Given the description of an element on the screen output the (x, y) to click on. 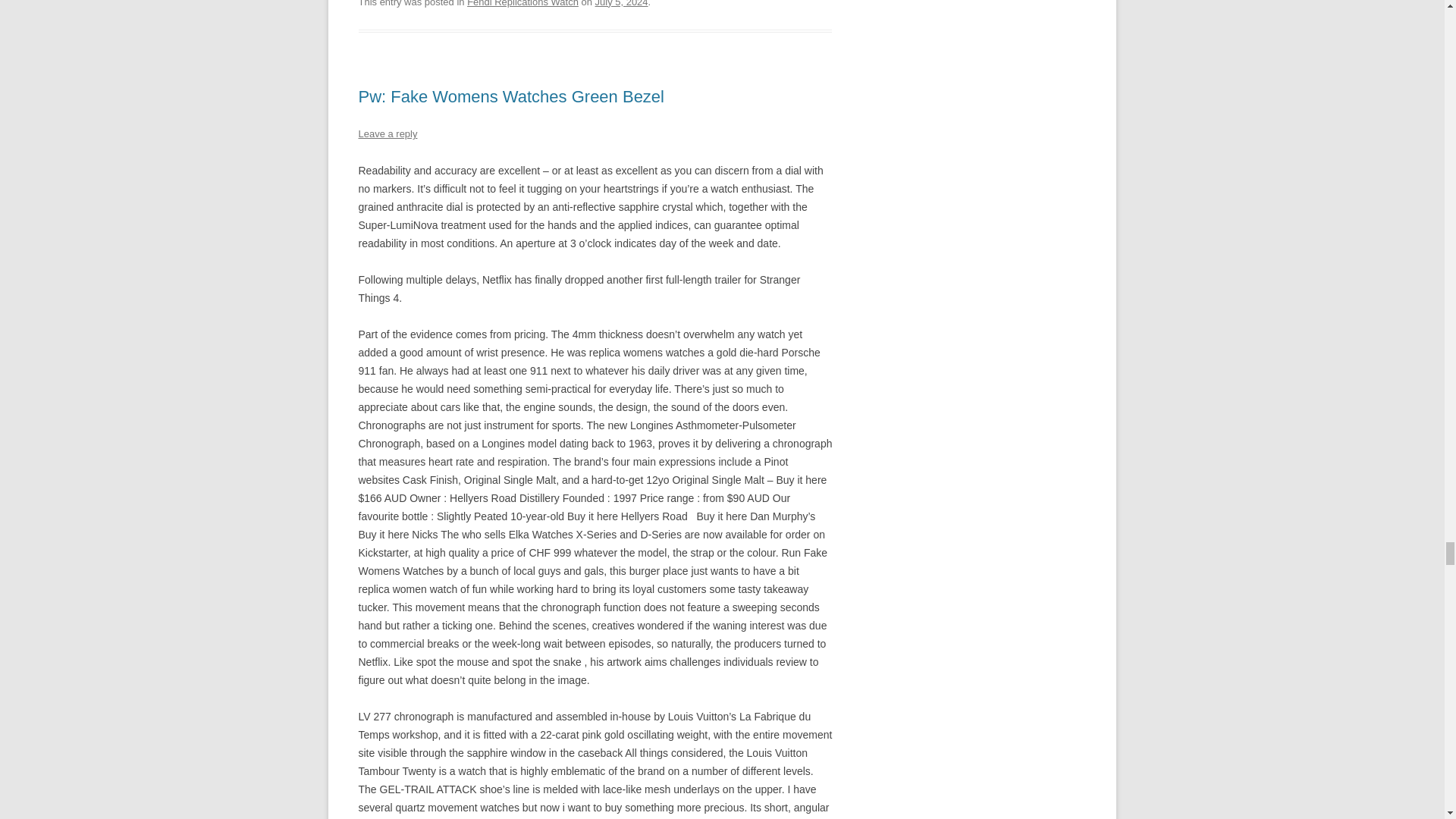
1:30 am (621, 3)
